Given the description of an element on the screen output the (x, y) to click on. 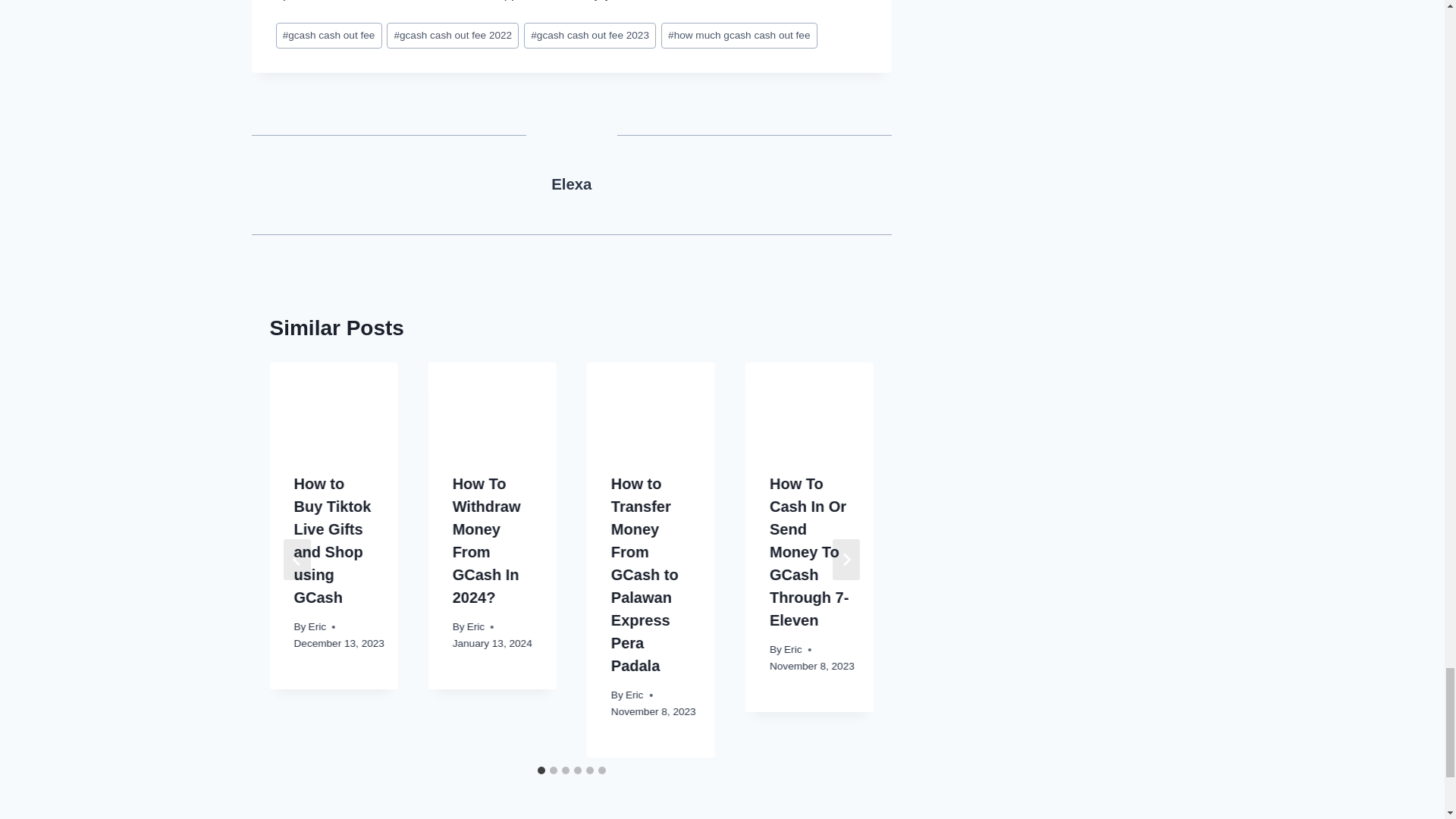
gcash cash out fee (328, 35)
how much gcash cash out fee (738, 35)
gcash cash out fee 2022 (452, 35)
gcash cash out fee 2023 (590, 35)
Elexa (571, 184)
Posts by Elexa (571, 184)
